Given the description of an element on the screen output the (x, y) to click on. 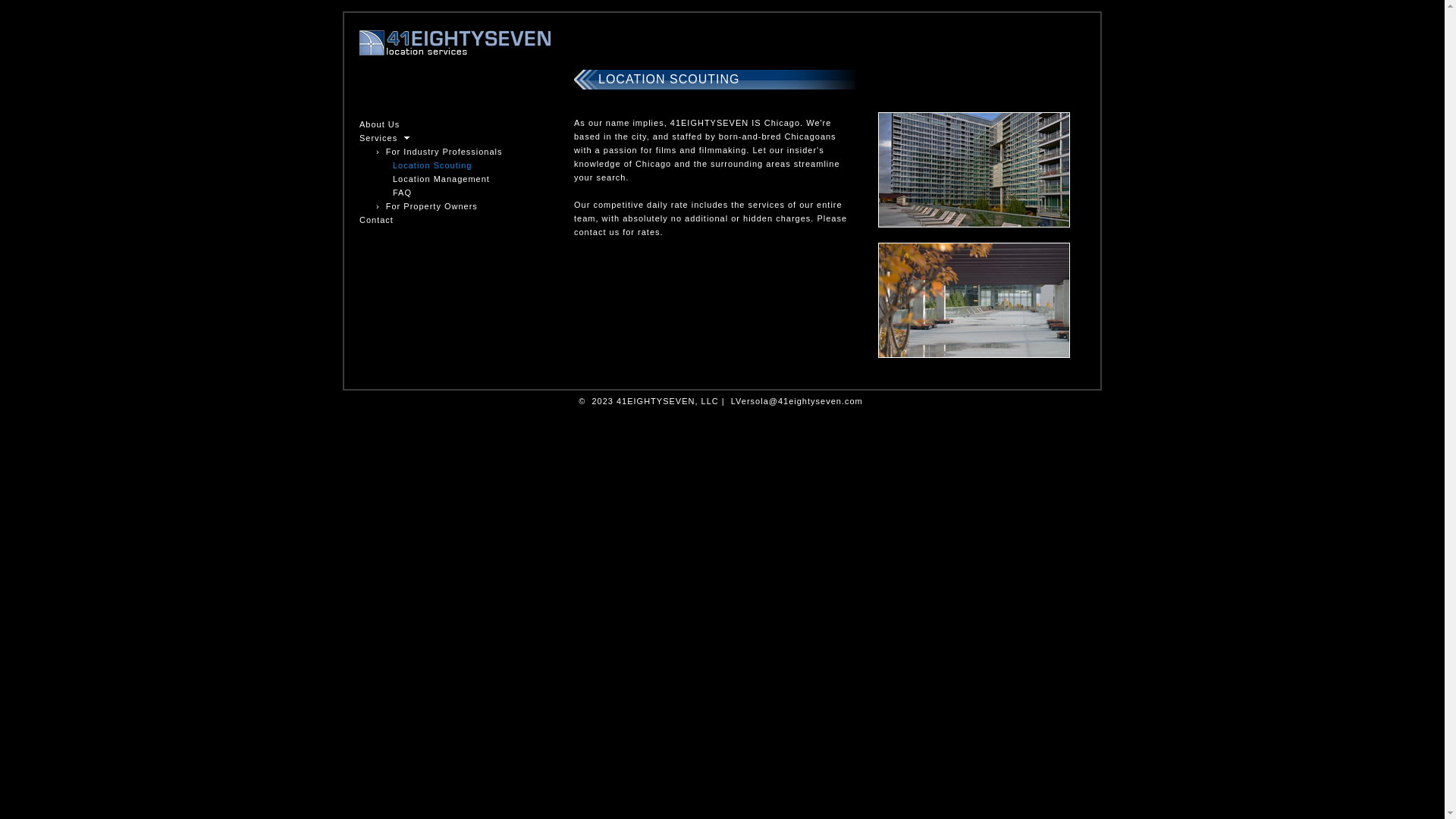
LVersola@41eightyseven.com Element type: text (796, 400)
About Us Element type: text (379, 123)
LOCATION SCOUTING Element type: text (669, 78)
Contact Element type: text (376, 219)
Location Management Element type: text (440, 178)
Location Scouting Element type: text (431, 164)
FAQ Element type: text (401, 192)
